Given the description of an element on the screen output the (x, y) to click on. 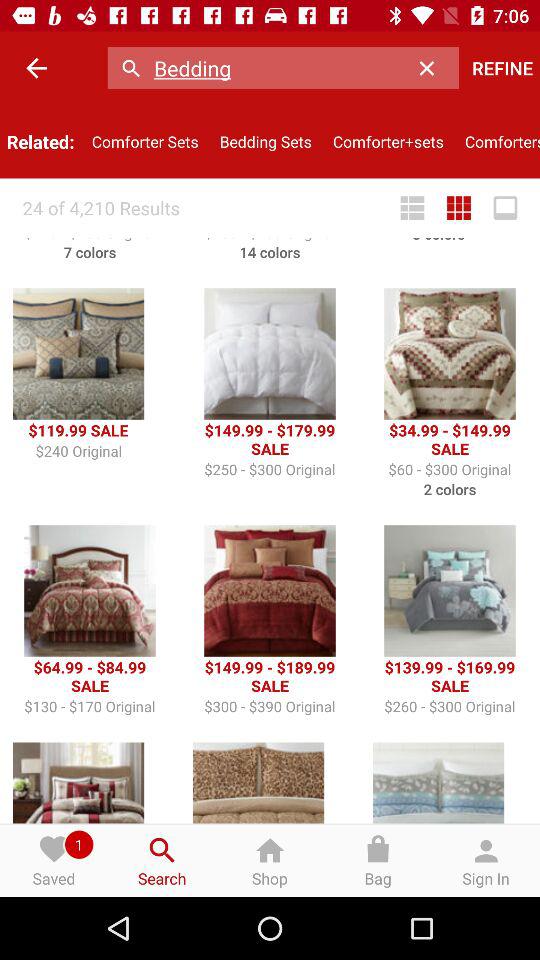
tap the icon to the right of the bedding item (432, 67)
